Given the description of an element on the screen output the (x, y) to click on. 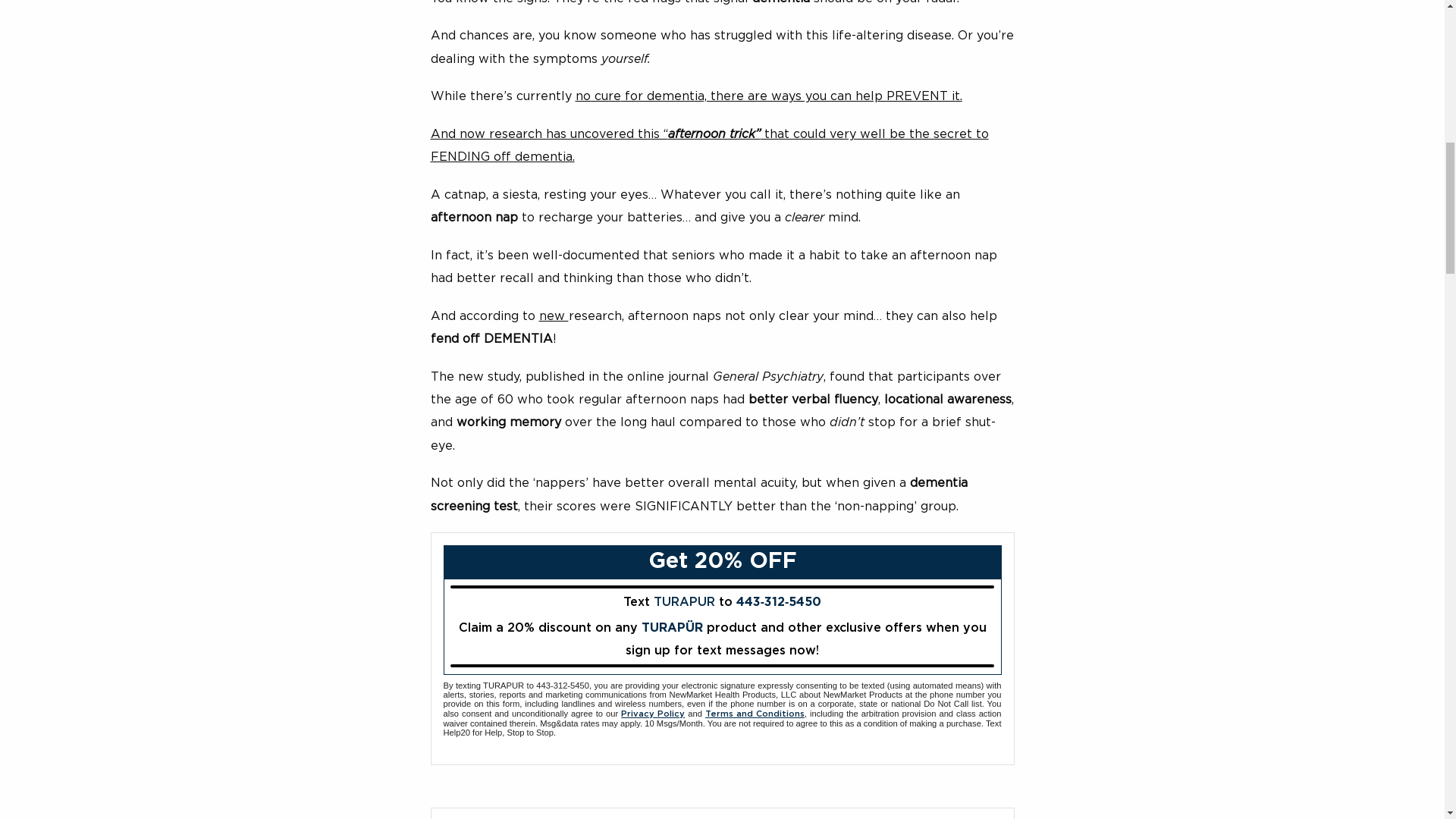
Privacy Policy (652, 714)
Terms and Conditions (754, 714)
